Given the description of an element on the screen output the (x, y) to click on. 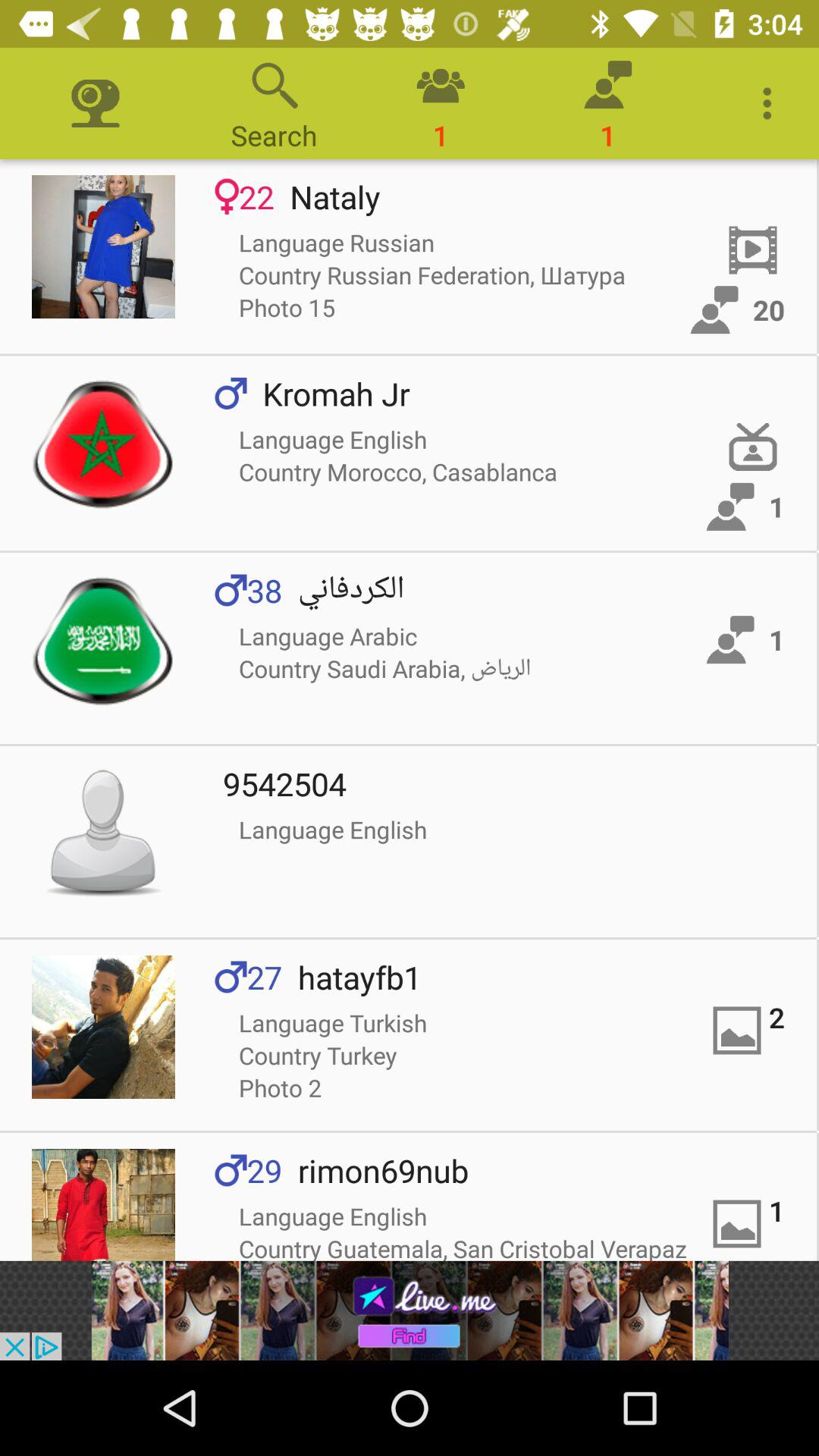
advertisement (409, 1310)
